Given the description of an element on the screen output the (x, y) to click on. 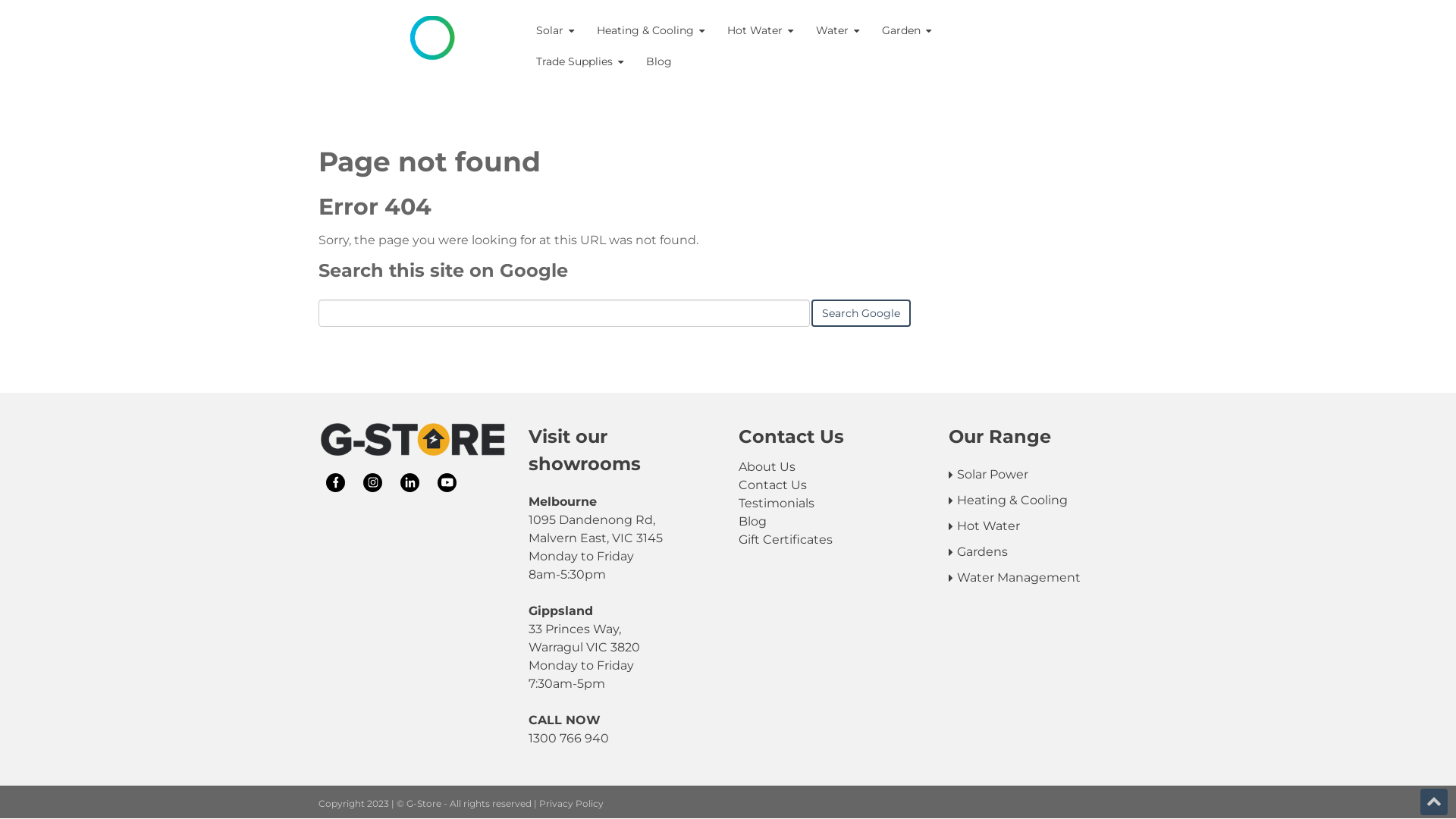
Heating & Cooling Element type: text (650, 30)
Privacy Policy Element type: text (571, 803)
Water Management Element type: text (1042, 577)
Gardens Element type: text (1042, 551)
gstore-logo-1 Element type: hover (412, 440)
Blog Element type: text (832, 521)
Hot Water Element type: text (1042, 526)
Solar Power Element type: text (1042, 474)
Solar Element type: text (554, 30)
Gippsland Element type: text (560, 610)
Testimonials Element type: text (832, 503)
G-Store Element type: hover (412, 47)
Search Google Element type: text (860, 312)
Melbourne Element type: text (562, 501)
About Us Element type: text (832, 467)
Gift Certificates Element type: text (832, 539)
Hot Water Element type: text (759, 30)
Trade Supplies Element type: text (579, 61)
Water Element type: text (837, 30)
Heating & Cooling Element type: text (1042, 500)
Blog Element type: text (658, 61)
Contact Us Element type: text (832, 485)
Garden Element type: text (906, 30)
